Given the description of an element on the screen output the (x, y) to click on. 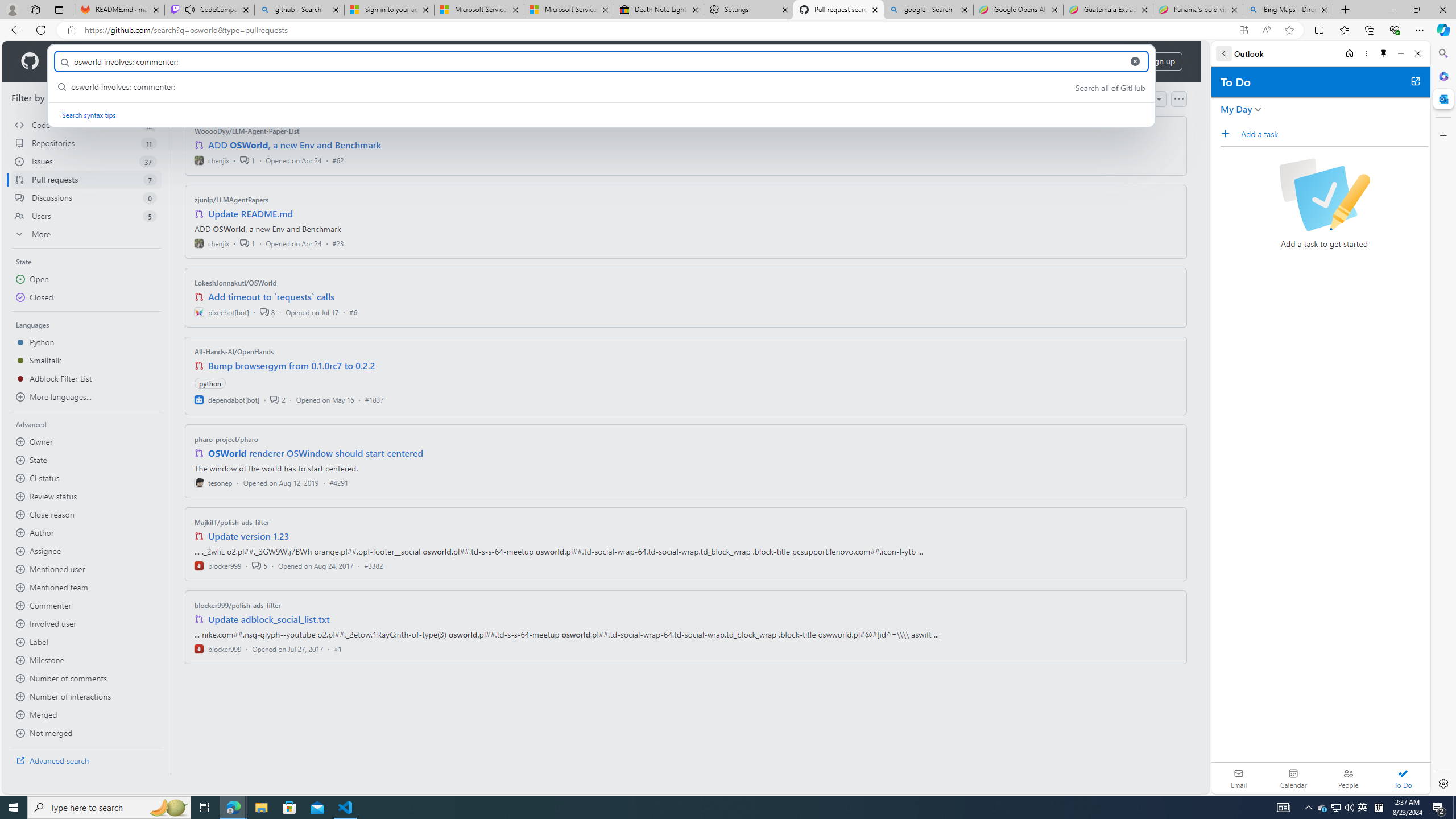
Resources (187, 60)
Open column options (1178, 98)
Add a task (1228, 133)
MajkiIT/polish-ads-filter (232, 521)
Update version 1.23 (248, 535)
